Given the description of an element on the screen output the (x, y) to click on. 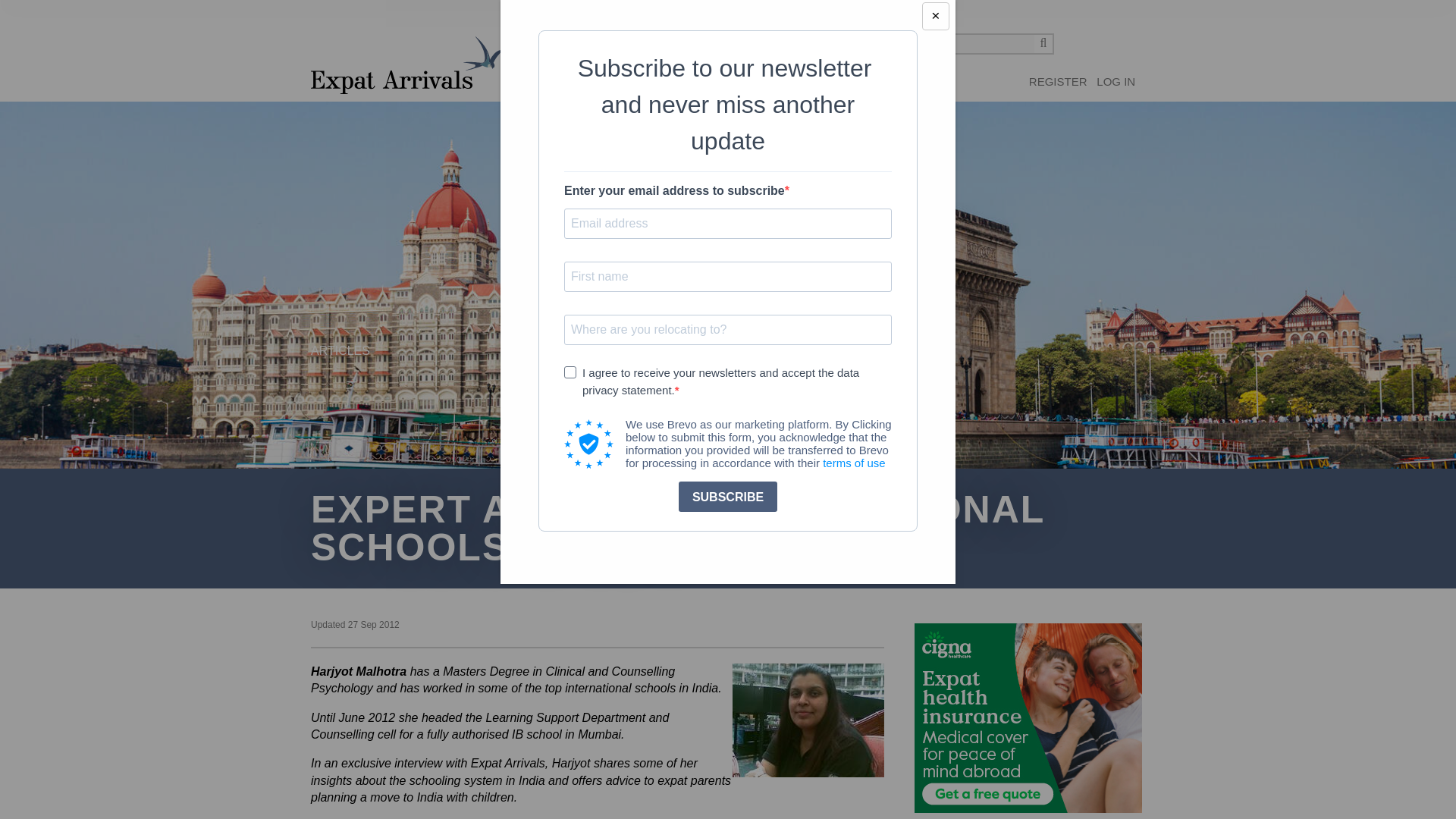
Search (1043, 43)
Search (1043, 43)
Enter the terms you wish to search for. (967, 43)
HOME (538, 90)
Home (406, 65)
LOG IN (1115, 81)
Sign me up (1058, 81)
REGISTER (1058, 81)
GUIDES (634, 90)
FORUM (583, 90)
